Given the description of an element on the screen output the (x, y) to click on. 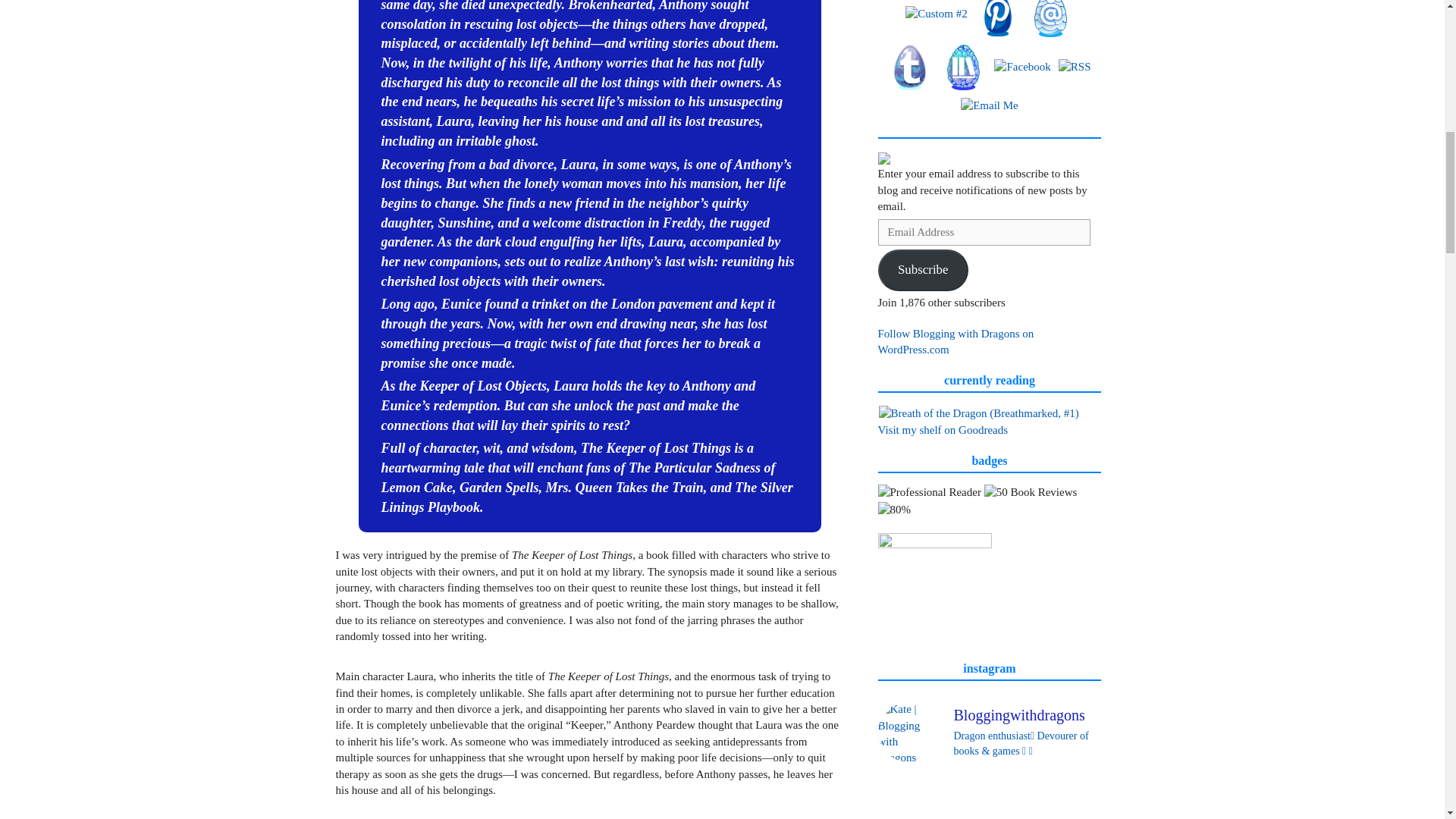
50 Book Reviews (1030, 492)
Professional Reader (929, 492)
